Given the description of an element on the screen output the (x, y) to click on. 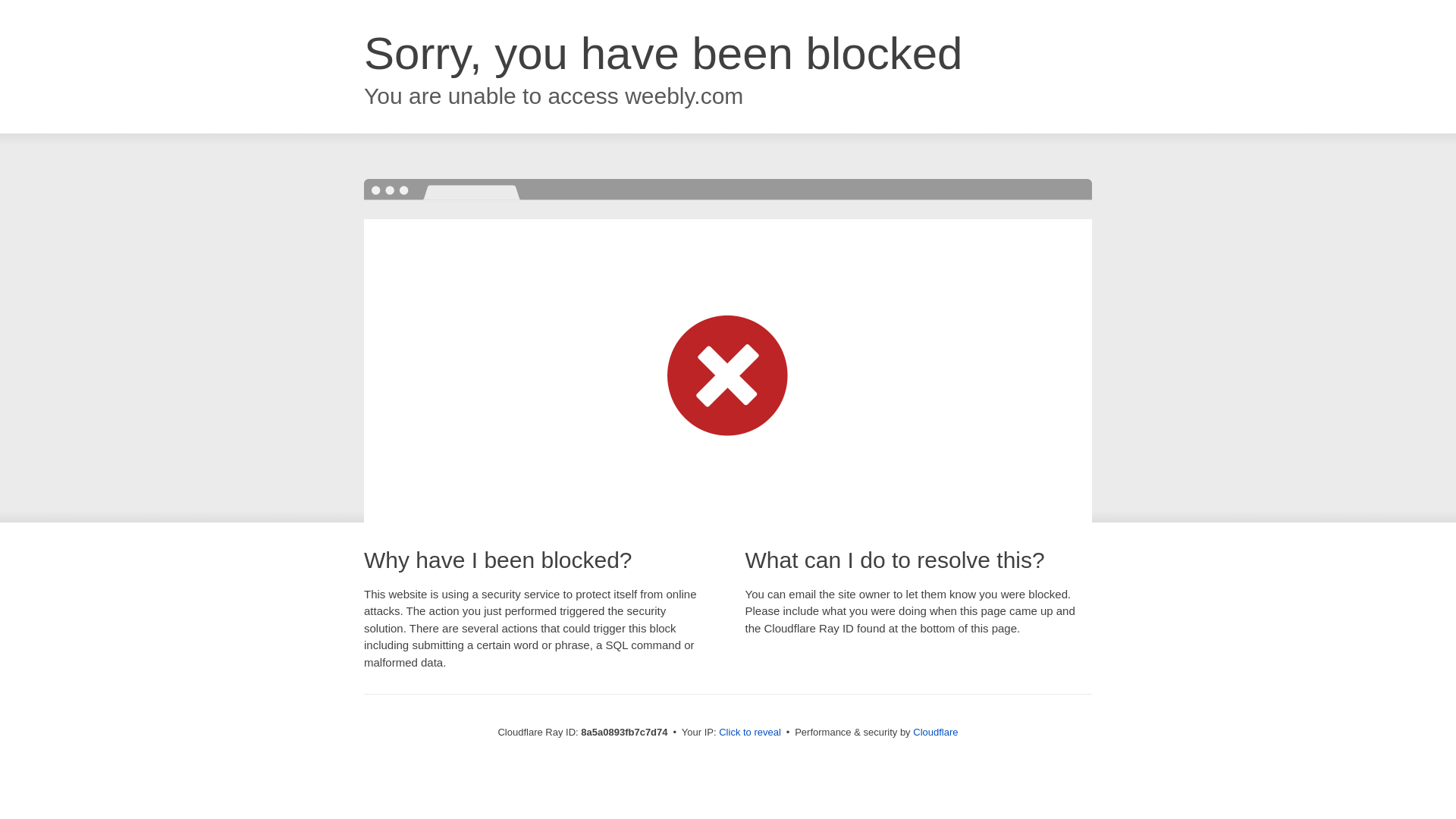
Cloudflare (935, 731)
Click to reveal (749, 732)
